Given the description of an element on the screen output the (x, y) to click on. 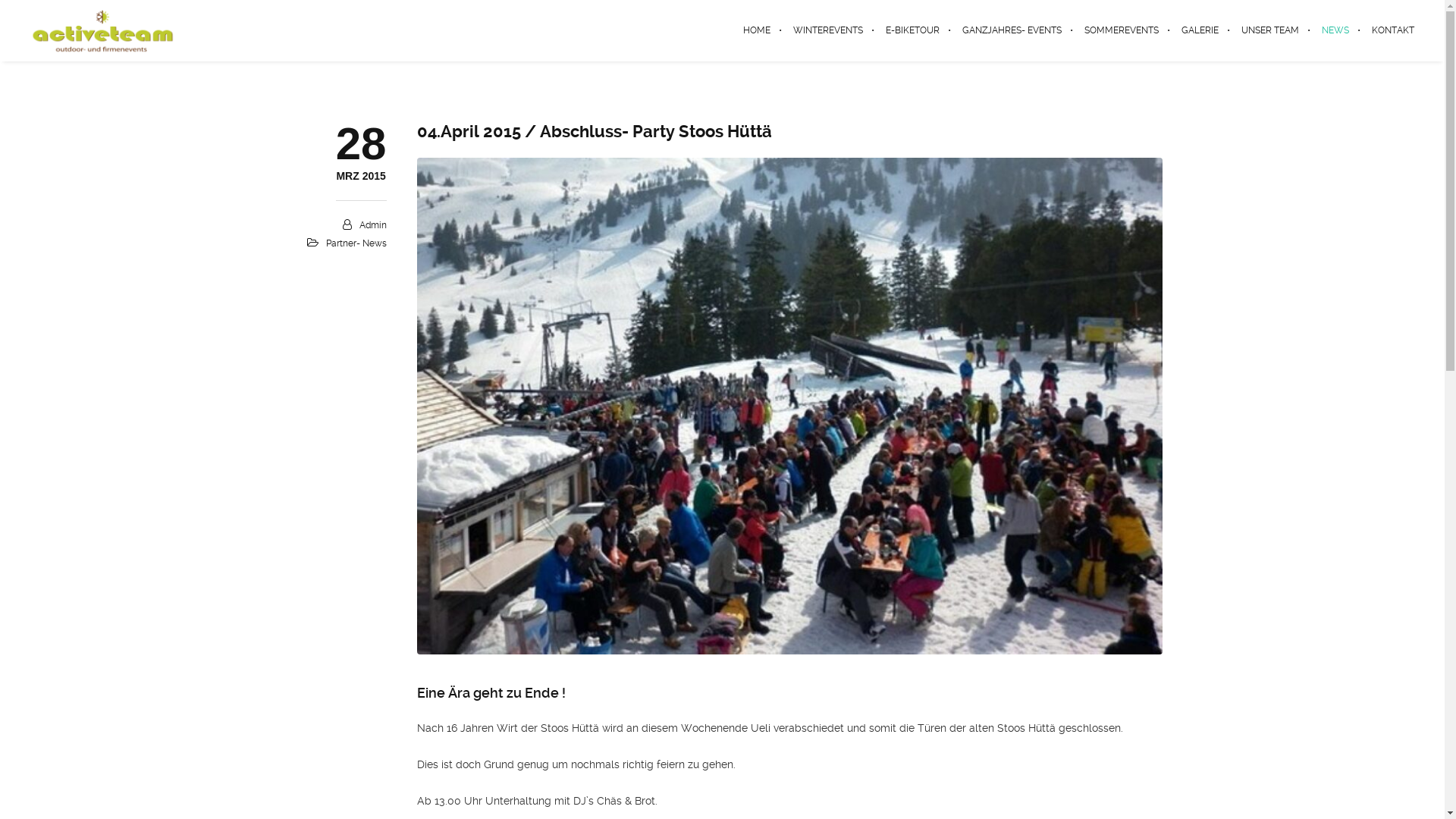
Partner- News Element type: text (356, 243)
KONTAKT Element type: text (1387, 30)
GANZJAHRES- EVENTS Element type: text (1011, 30)
NEWS Element type: text (1335, 30)
Admin Element type: text (372, 224)
GALERIE Element type: text (1200, 30)
SOMMEREVENTS Element type: text (1121, 30)
28
MRZ 2015 Element type: text (360, 176)
HOME Element type: text (756, 30)
E-BIKETOUR Element type: text (912, 30)
UNSER TEAM Element type: text (1270, 30)
WINTEREVENTS Element type: text (827, 30)
